Given the description of an element on the screen output the (x, y) to click on. 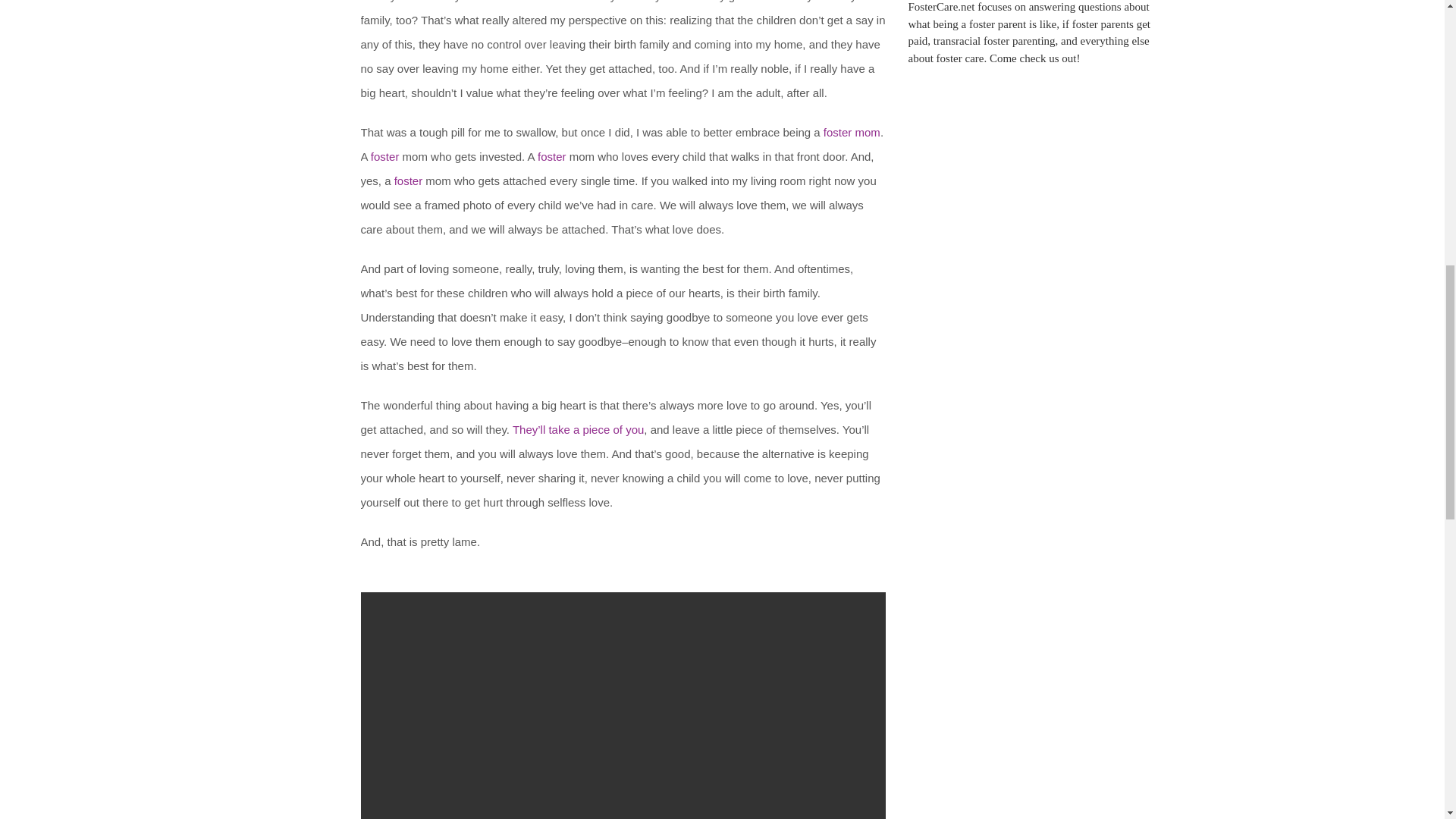
mom (868, 132)
foster (837, 132)
foster (408, 180)
foster (551, 155)
foster (384, 155)
